Given the description of an element on the screen output the (x, y) to click on. 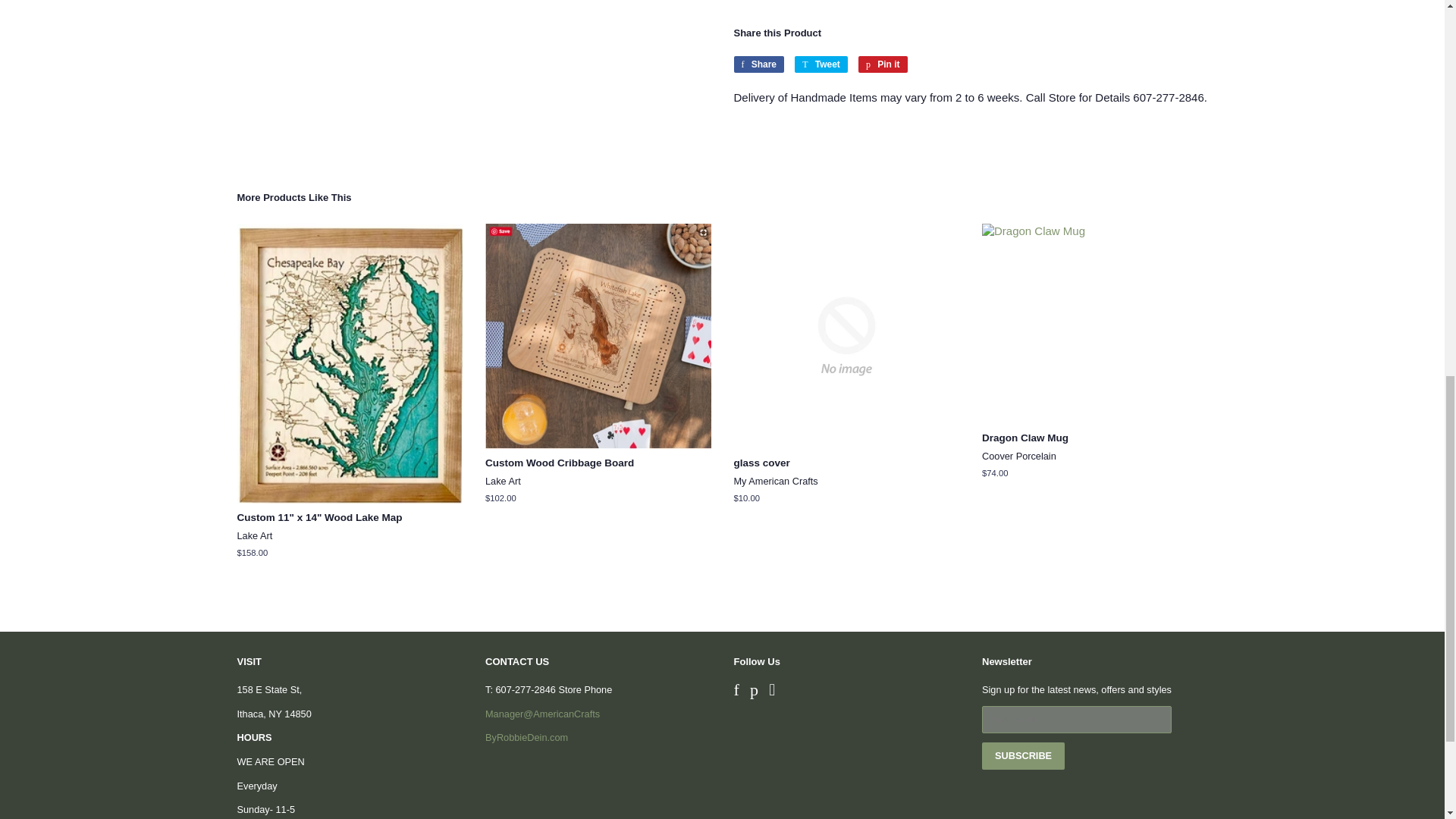
Share on Facebook (758, 64)
Tweet on Twitter (820, 64)
Pin on Pinterest (883, 64)
Subscribe (1022, 755)
